Given the description of an element on the screen output the (x, y) to click on. 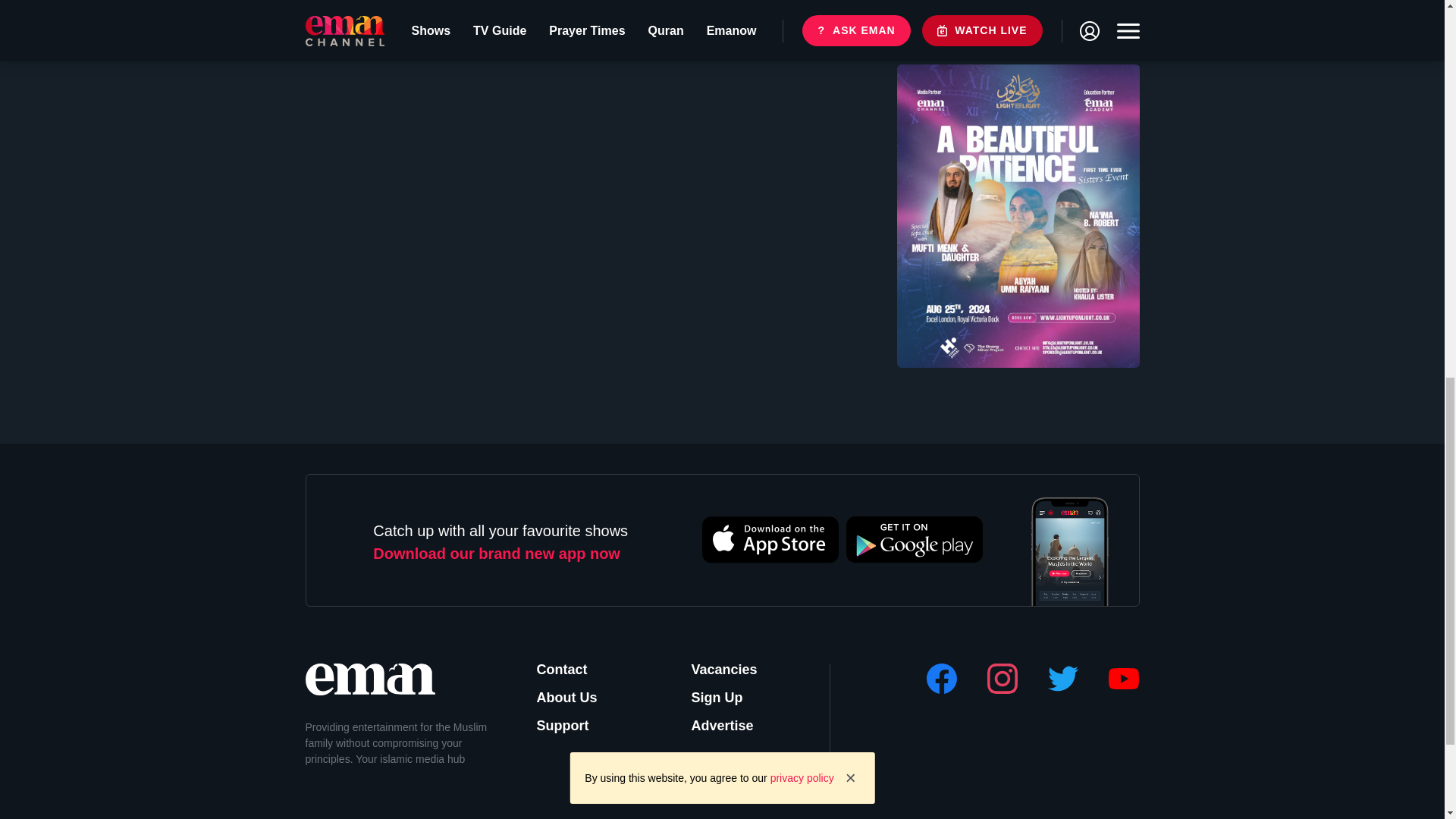
Support (573, 725)
Vacancies (727, 670)
About Us (573, 697)
Contact (573, 670)
